Given the description of an element on the screen output the (x, y) to click on. 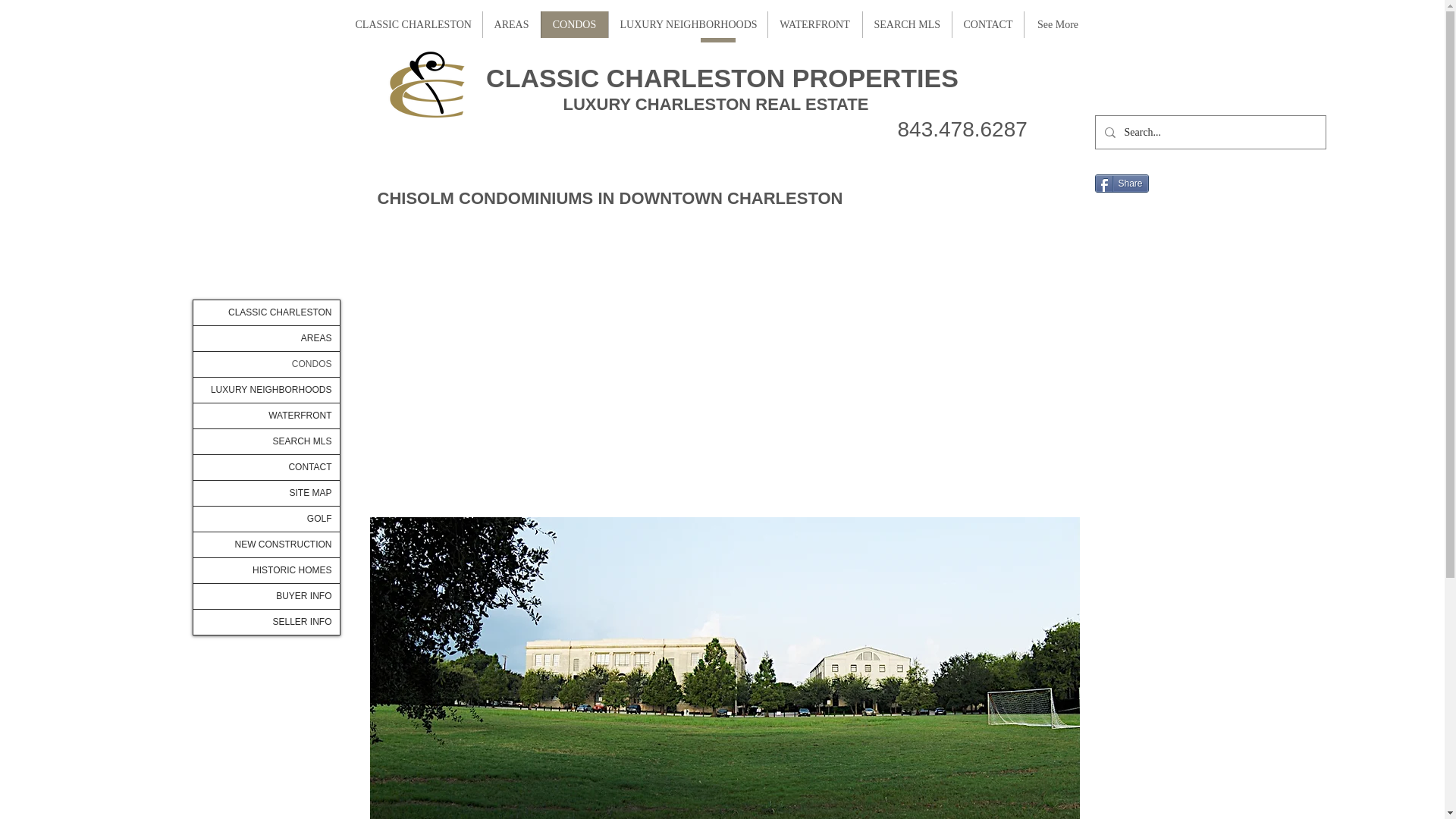
Share (1121, 183)
CLASSIC CHARLESTON (412, 24)
CONDOS (573, 24)
LUXURY NEIGHBORHOODS (687, 24)
Logo Only COLOR.png (426, 85)
AREAS (510, 24)
